Given the description of an element on the screen output the (x, y) to click on. 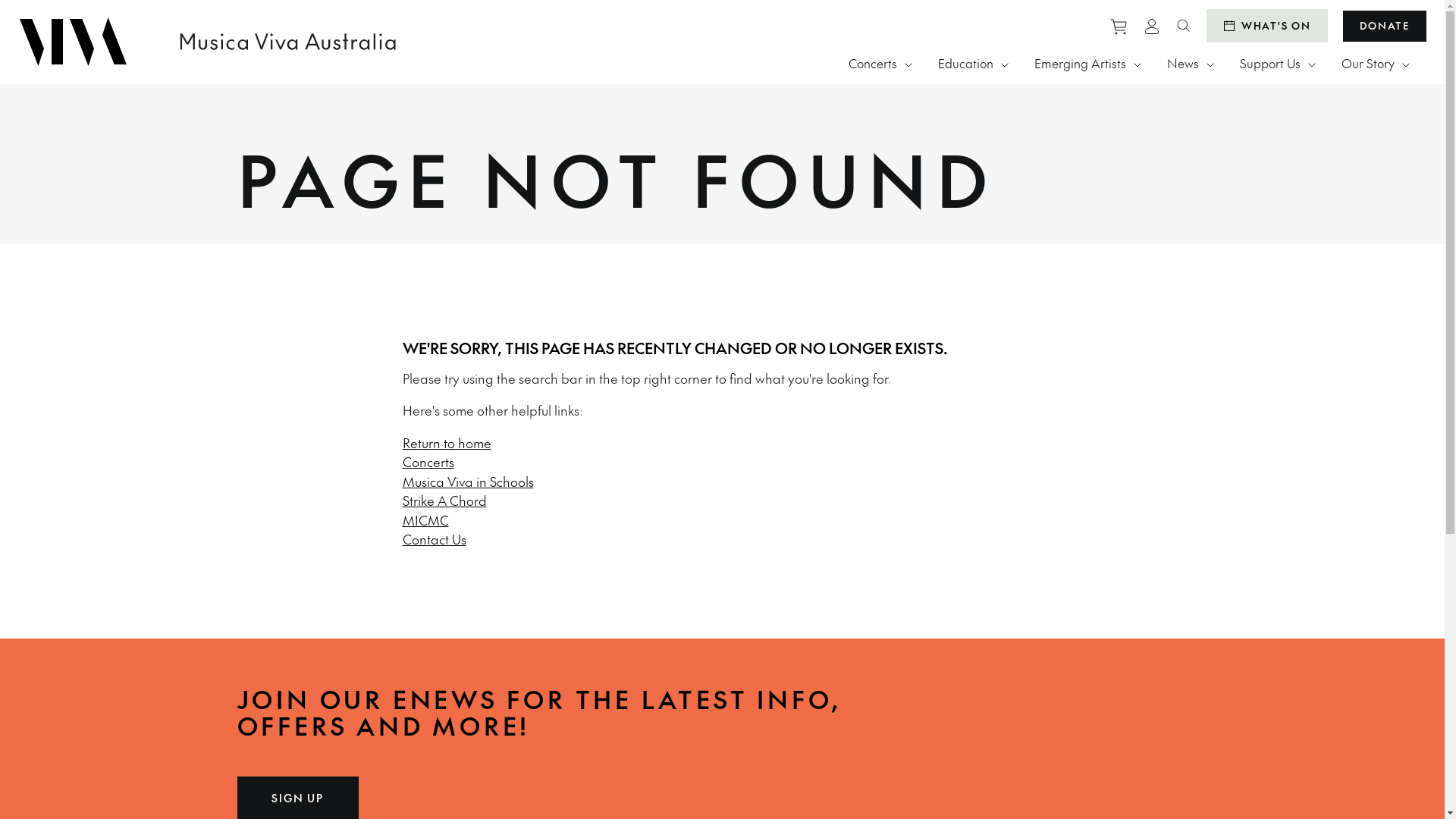
News Element type: text (1190, 62)
Concerts Element type: text (880, 62)
Search website Element type: text (1183, 25)
Musica Viva in Schools Element type: text (467, 480)
Support Us Element type: text (1277, 62)
View personal profile Element type: text (1151, 25)
Purchase tickets to events Element type: text (1118, 25)
Concerts Element type: text (427, 461)
MICMC Element type: text (424, 520)
DONATE Element type: text (1384, 25)
Our Story Element type: text (1375, 62)
Emerging Artists Element type: text (1087, 62)
Strike A Chord Element type: text (443, 500)
Return to home Element type: text (445, 442)
Contact Us Element type: text (433, 539)
WHAT'S ON Element type: text (1266, 25)
Education Element type: text (972, 62)
